Given the description of an element on the screen output the (x, y) to click on. 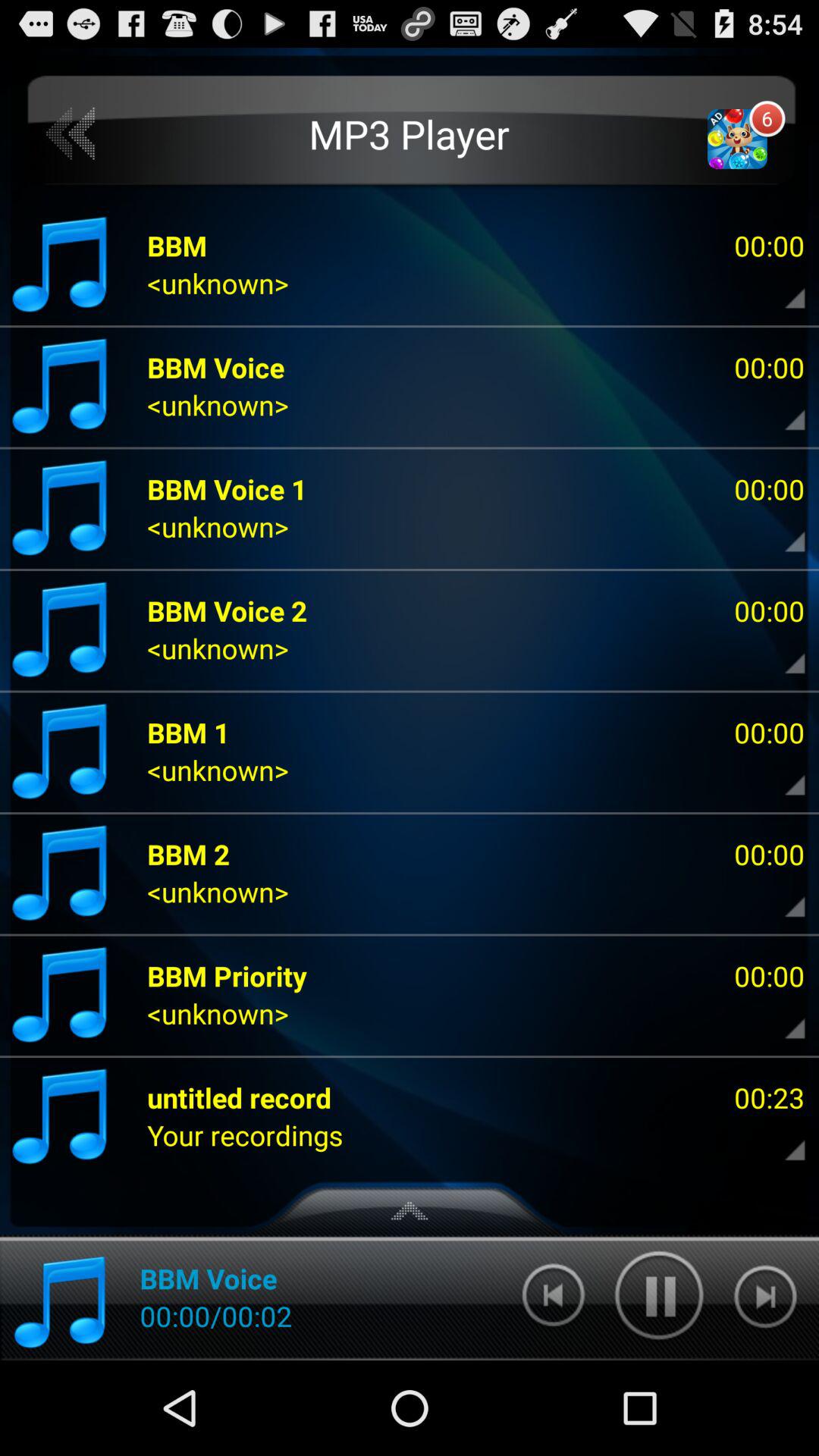
view menu (782, 895)
